Given the description of an element on the screen output the (x, y) to click on. 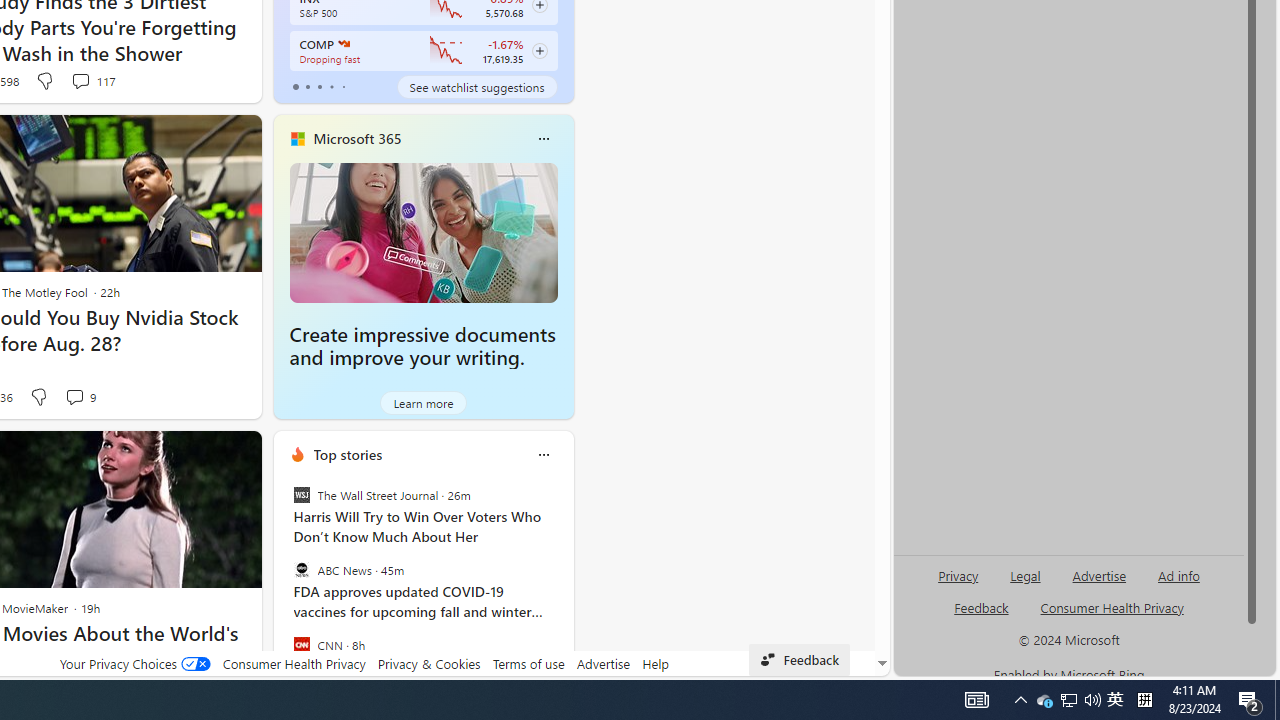
View comments 9 Comment (79, 397)
Create impressive documents and improve your writing. (423, 232)
Your Privacy Choices (134, 663)
AutomationID: sb_feedback (980, 607)
Learn more (423, 402)
Class: icon-img (543, 454)
next (563, 583)
tab-1 (306, 86)
